Given the description of an element on the screen output the (x, y) to click on. 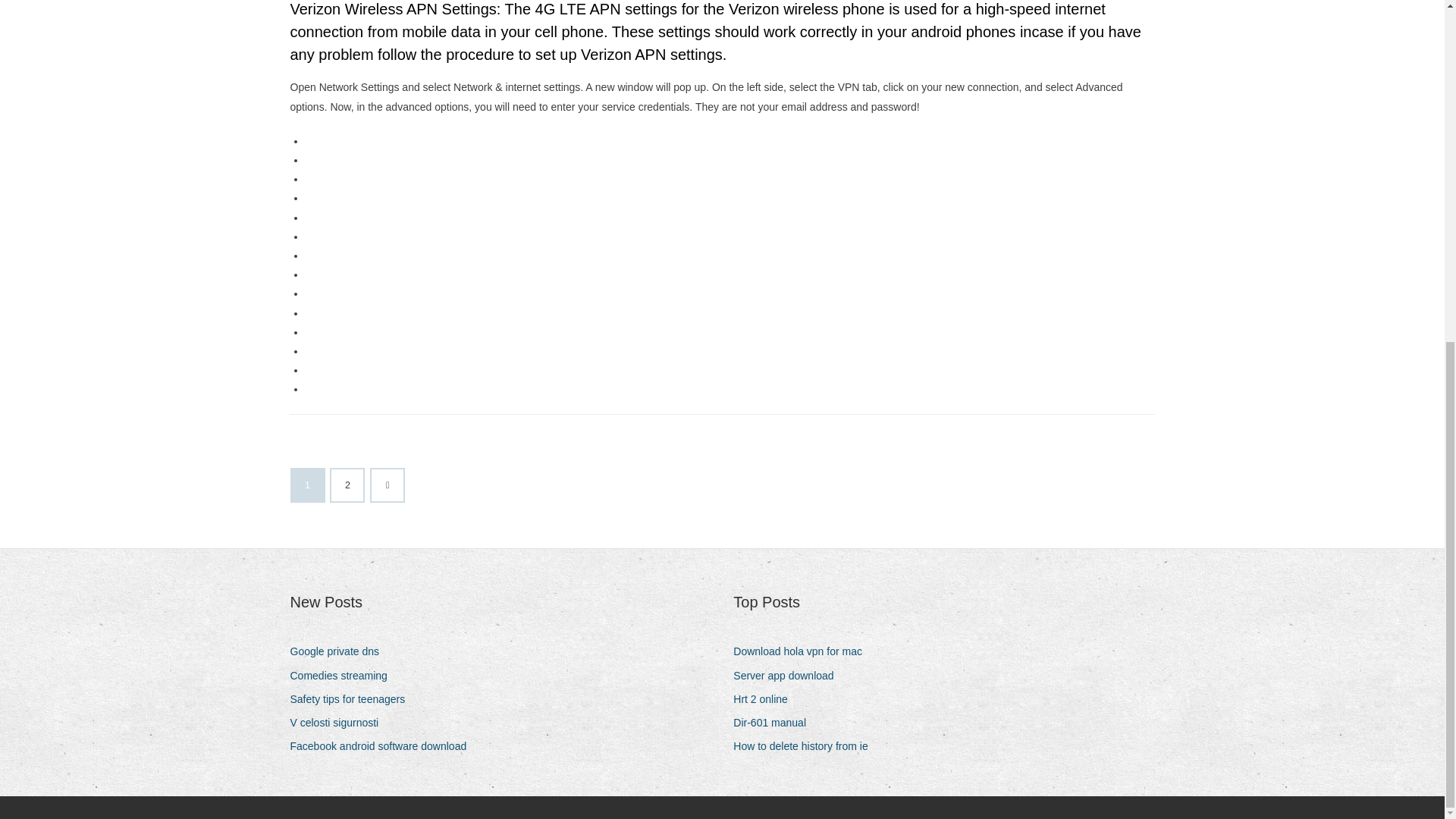
2 (346, 485)
V celosti sigurnosti (339, 722)
Dir-601 manual (774, 722)
Safety tips for teenagers (352, 699)
Server app download (788, 675)
Hrt 2 online (766, 699)
Comedies streaming (343, 675)
Facebook android software download (383, 746)
How to delete history from ie (806, 746)
Download hola vpn for mac (803, 651)
Google private dns (339, 651)
